Given the description of an element on the screen output the (x, y) to click on. 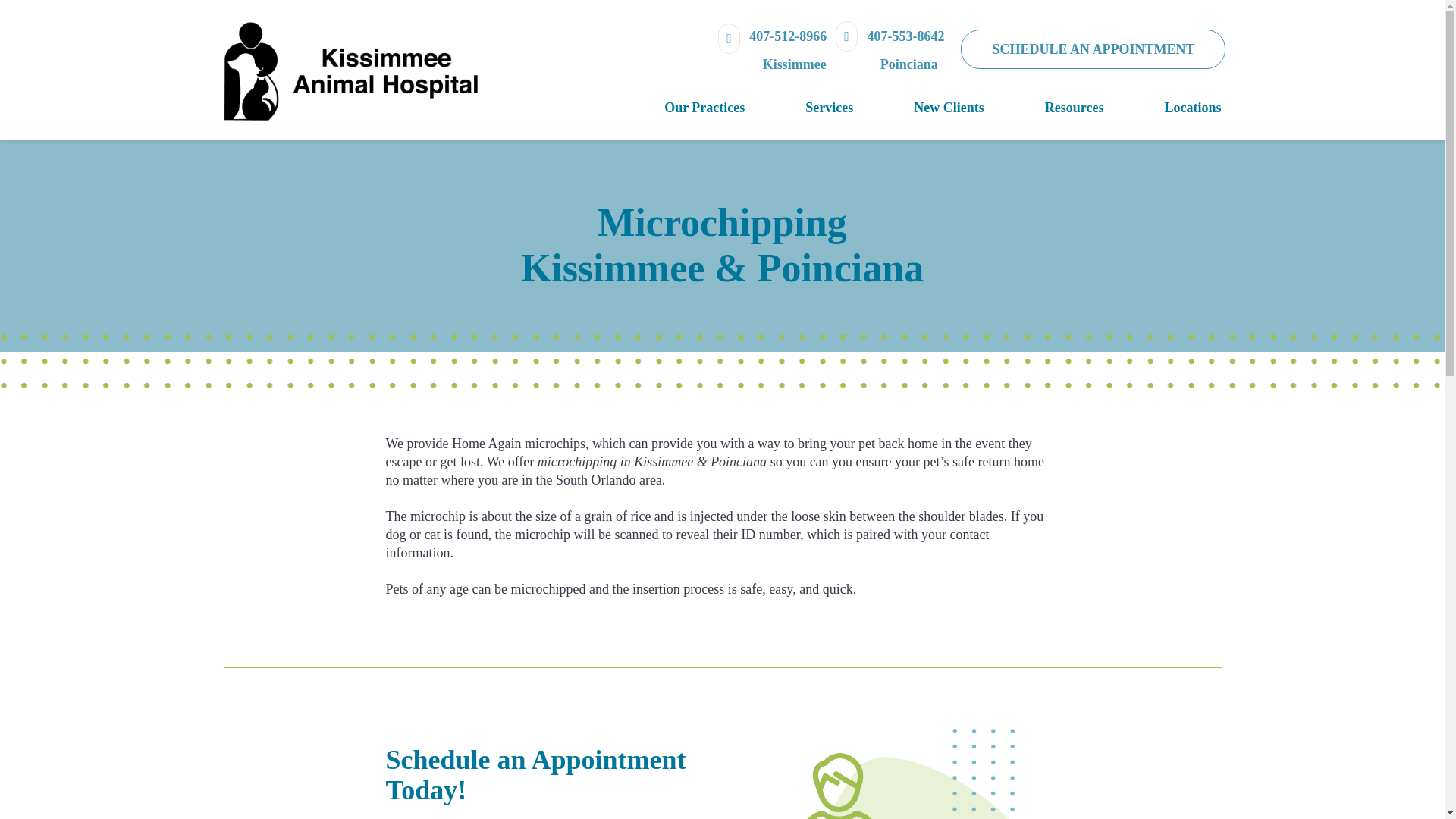
407-553-8642 (889, 50)
New Clients (918, 107)
Our Practices (674, 107)
SCHEDULE AN APPOINTMENT (1092, 49)
407-512-8966 (772, 50)
Resources (1043, 107)
Services (798, 107)
Locations (1162, 107)
veterinarian with animals in little rock (929, 785)
